Given the description of an element on the screen output the (x, y) to click on. 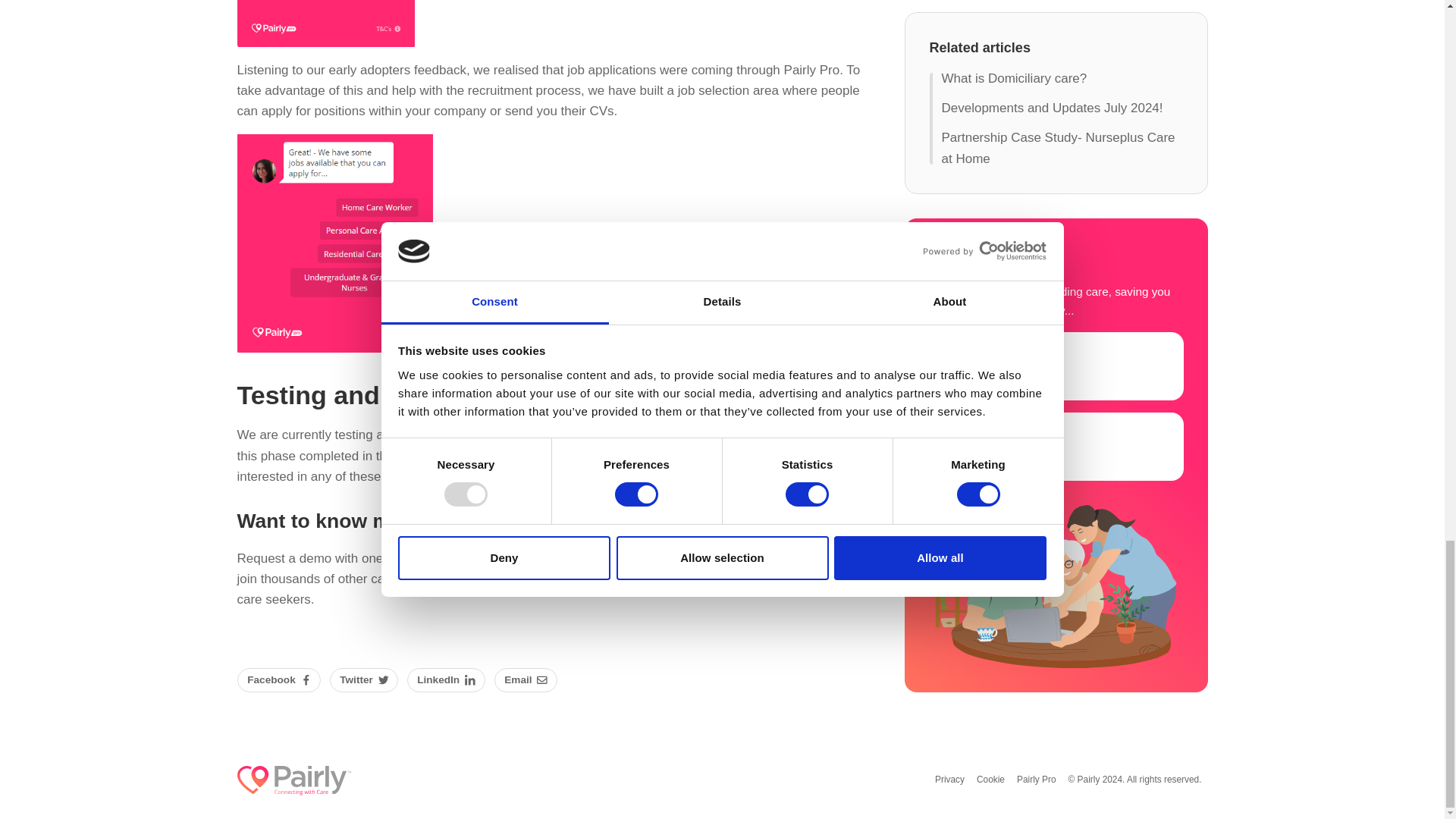
Home (292, 779)
